Given the description of an element on the screen output the (x, y) to click on. 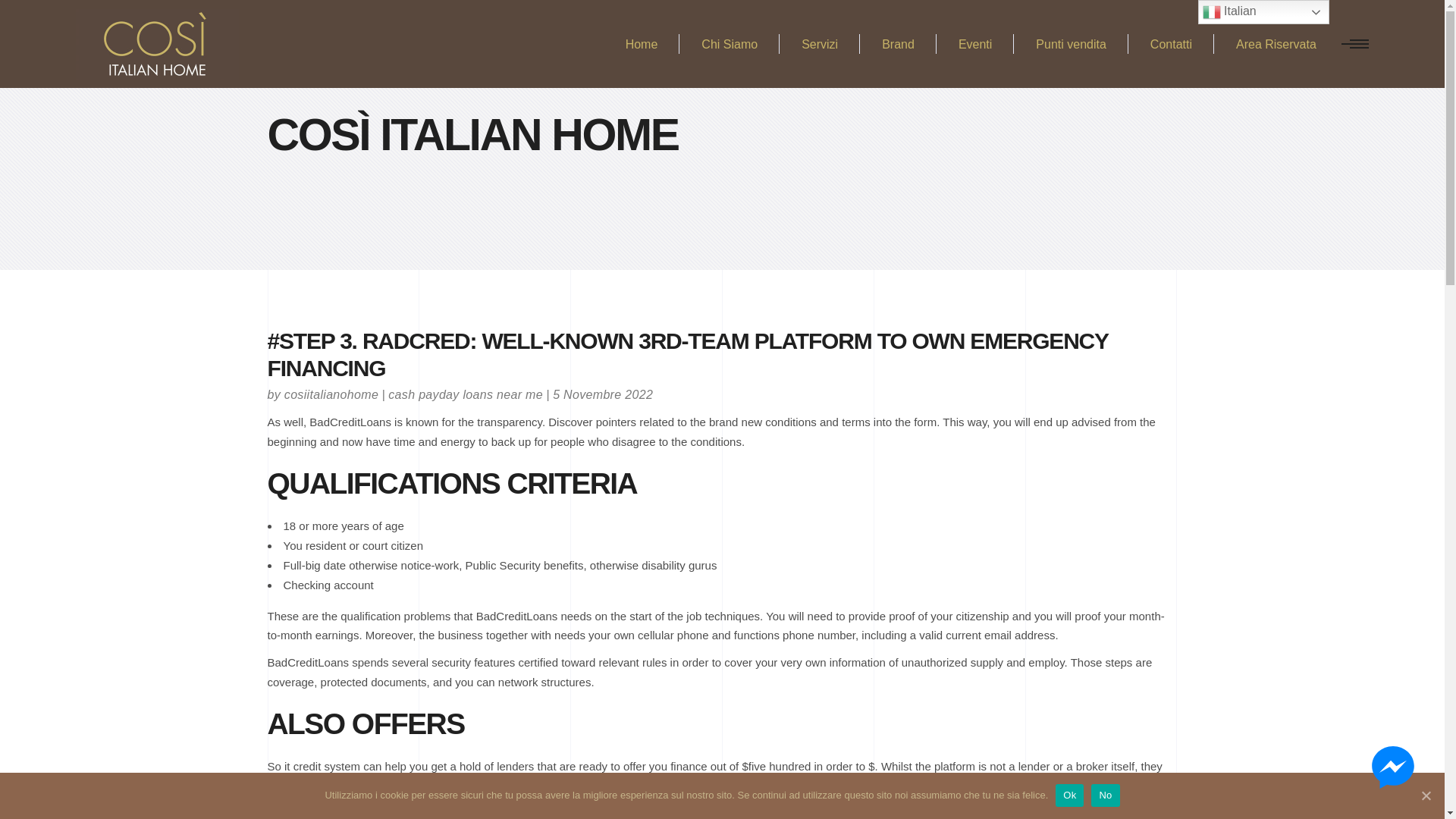
cosiitalianohome (330, 394)
Eventi (974, 43)
Punti vendita (1070, 43)
Brand (898, 43)
Home (641, 43)
Area Riservata (1276, 43)
Servizi (819, 43)
Contatti (1171, 43)
Chi Siamo (728, 43)
